Given the description of an element on the screen output the (x, y) to click on. 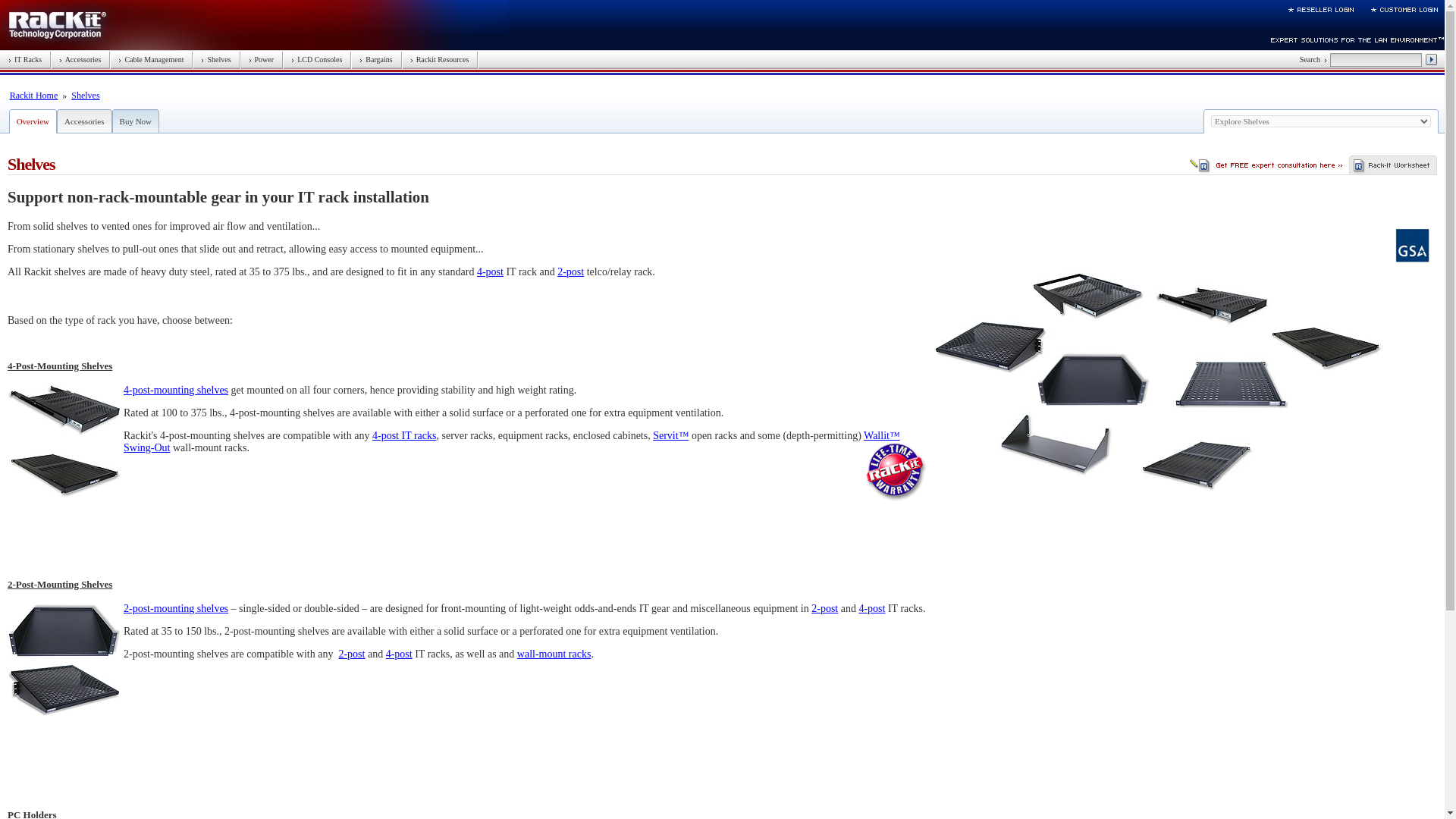
2-post (824, 608)
4-post (872, 608)
  LCD Consoles (316, 59)
  Rackit Resources (439, 59)
Shelves (85, 95)
4-Post-Mounting Shelves (63, 440)
  Bargains (375, 59)
2-post (351, 654)
Life-time warranty (896, 471)
  Shelves (215, 59)
2-Post-Mounting Shelves (63, 659)
  Cable Management (150, 59)
2-post (570, 271)
Overview (32, 121)
4-post (490, 271)
